Given the description of an element on the screen output the (x, y) to click on. 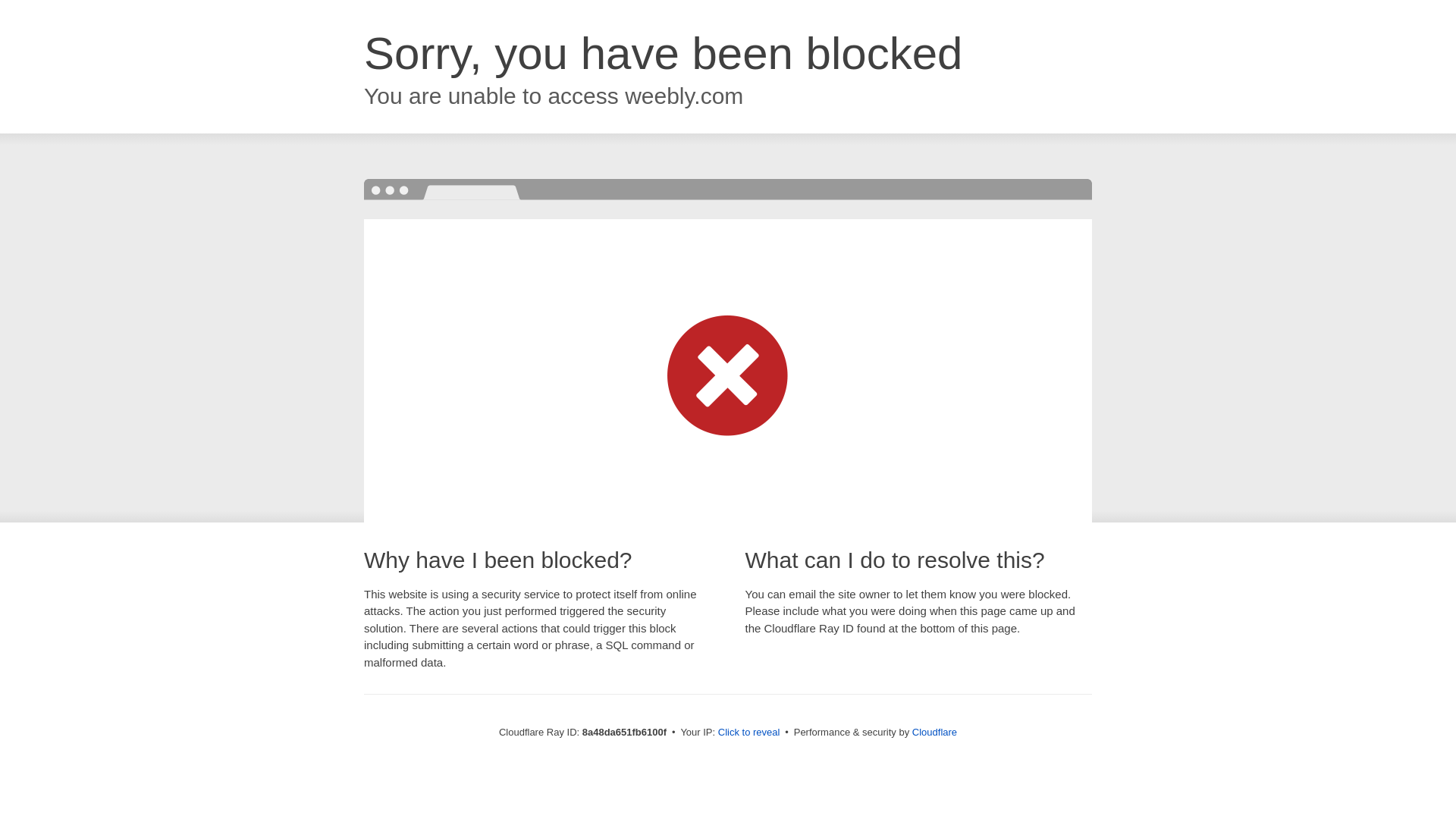
Click to reveal (748, 732)
Cloudflare (934, 731)
